Given the description of an element on the screen output the (x, y) to click on. 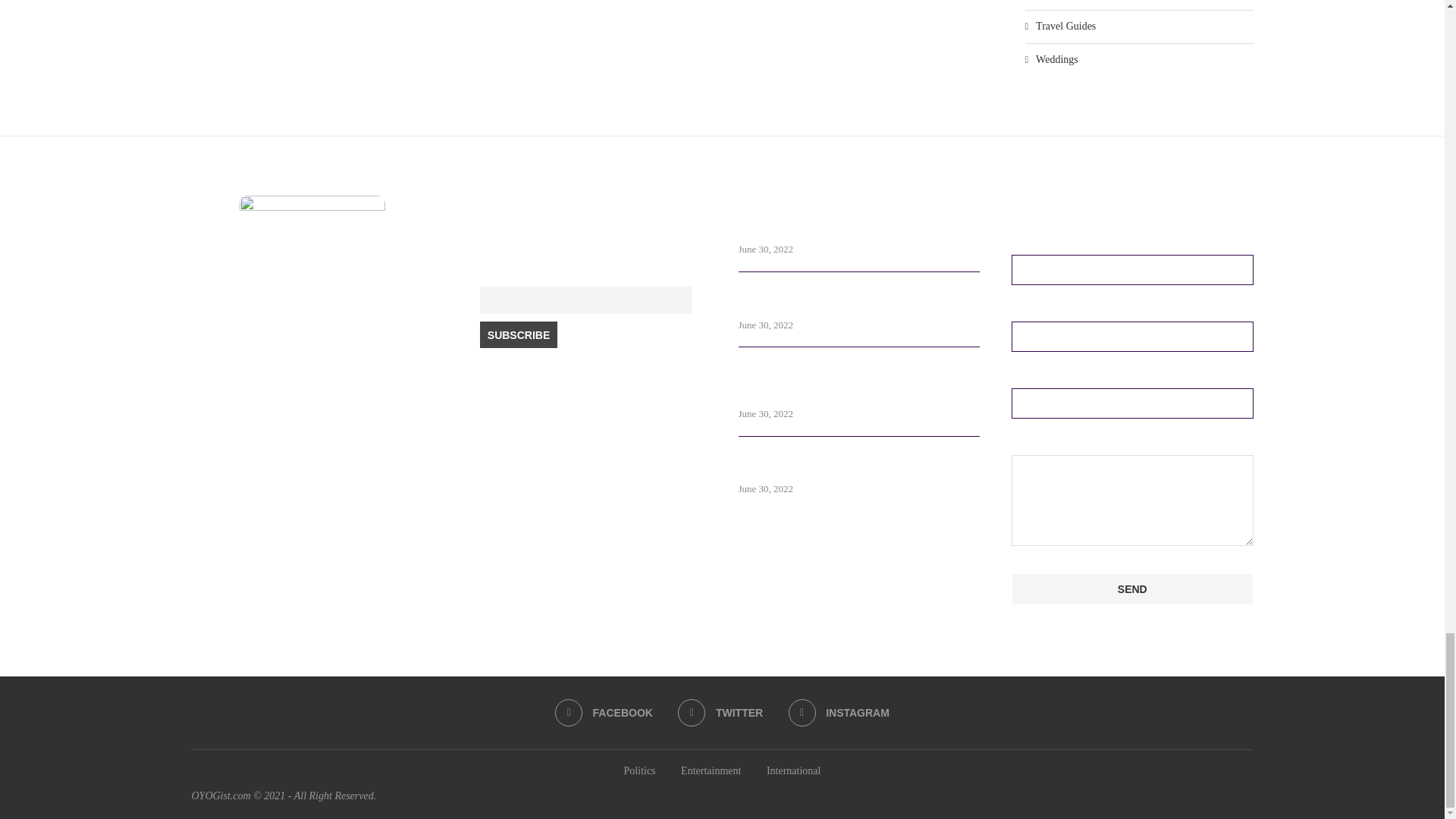
Send (1132, 589)
Subscribe (518, 334)
